Given the description of an element on the screen output the (x, y) to click on. 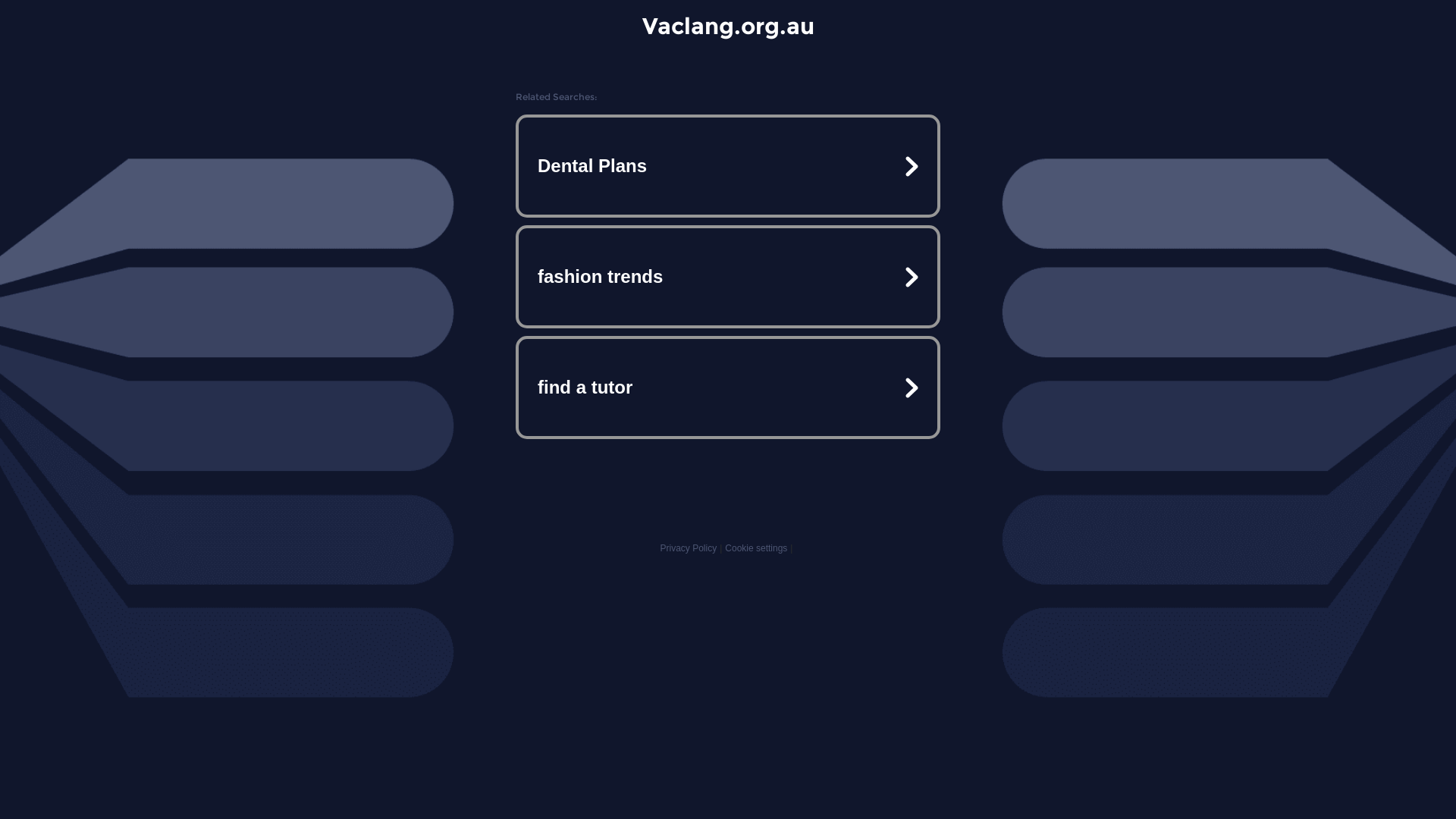
find a tutor Element type: text (727, 387)
fashion trends Element type: text (727, 276)
Privacy Policy Element type: text (687, 547)
Vaclang.org.au Element type: text (727, 26)
Cookie settings Element type: text (755, 547)
Dental Plans Element type: text (727, 165)
